Given the description of an element on the screen output the (x, y) to click on. 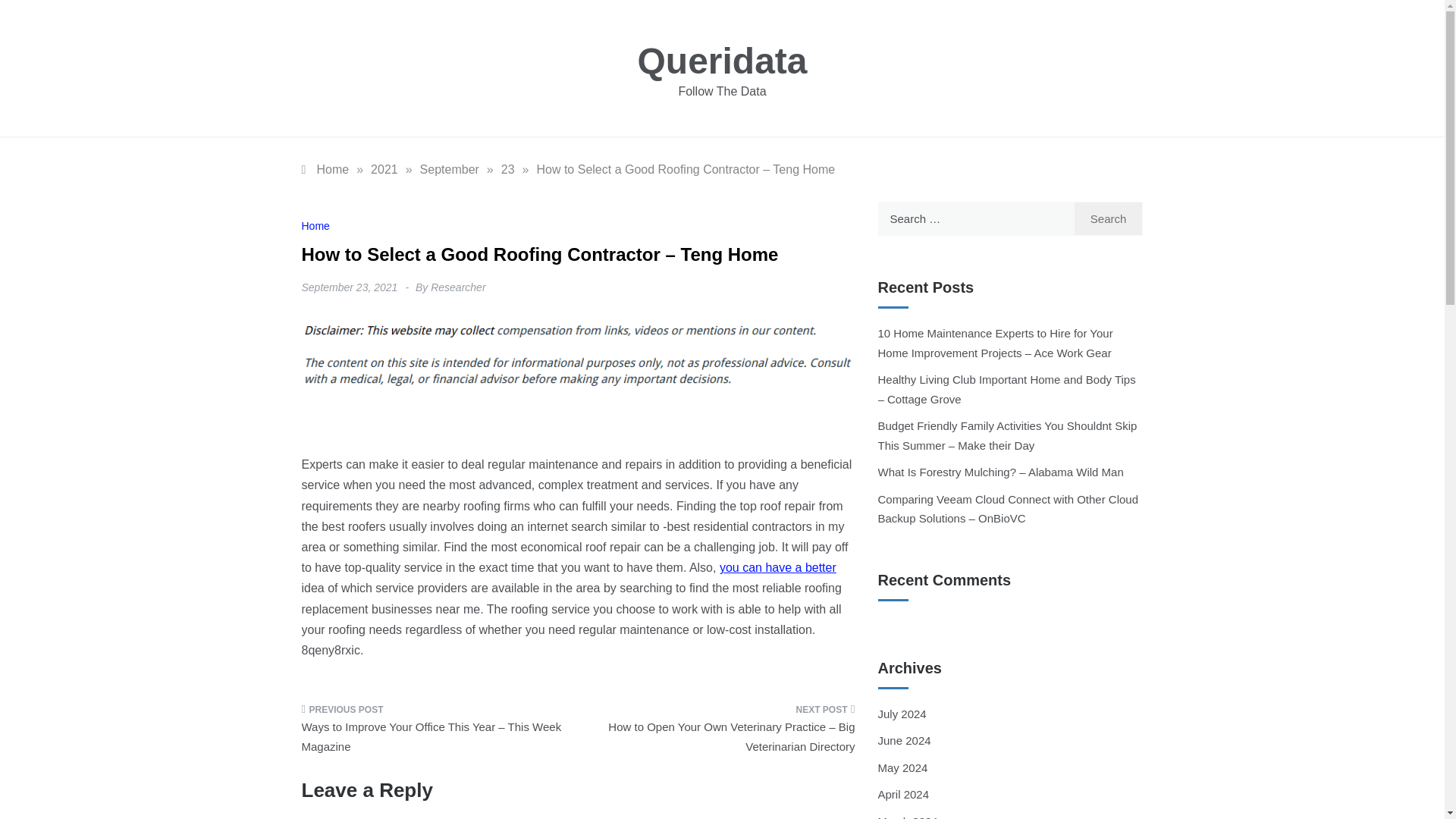
Queridata (721, 60)
Search (1108, 218)
July 2024 (901, 713)
23 (507, 169)
Home (325, 169)
Researcher (457, 287)
Search (1108, 218)
September (449, 169)
2021 (384, 169)
Home (315, 225)
June 2024 (904, 739)
March 2024 (907, 816)
May 2024 (902, 767)
September 23, 2021 (349, 287)
Search (1108, 218)
